Given the description of an element on the screen output the (x, y) to click on. 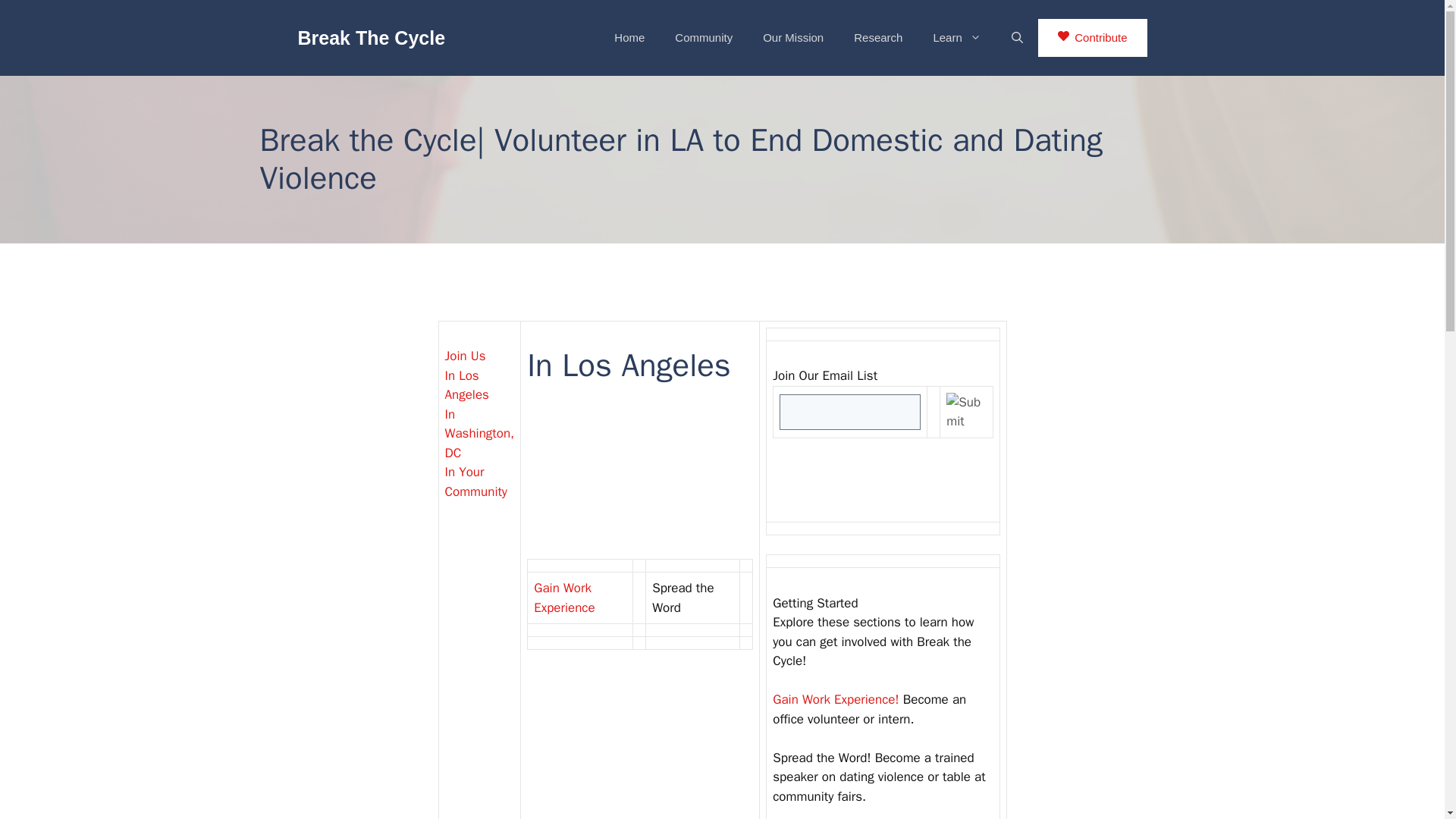
Gain Work Experience! (835, 699)
Submit (965, 412)
Break The Cycle (371, 37)
In Los Angeles (465, 385)
In Your Community (475, 481)
Community (703, 37)
Home (628, 37)
Join Us (464, 355)
In Washington, DC (478, 433)
Our Mission (793, 37)
